Given the description of an element on the screen output the (x, y) to click on. 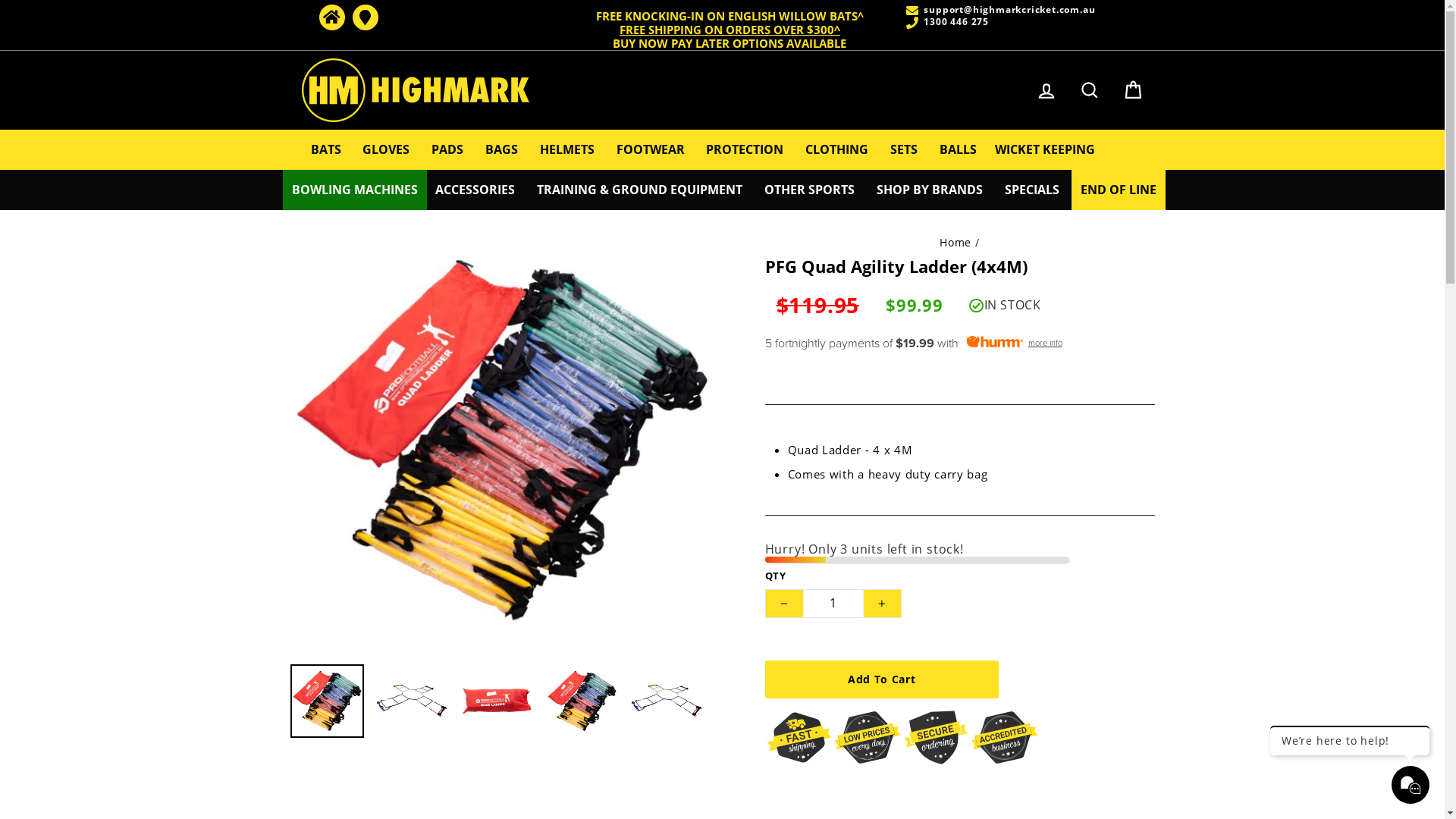
PADS Element type: text (447, 149)
FOOTWEAR Element type: text (650, 149)
Skip to content Element type: text (0, 0)
SEARCH Element type: text (1089, 90)
SHOP BY BRANDS Element type: text (929, 189)
ACCESSORIES Element type: text (475, 189)
Home Element type: hover (331, 17)
Contact Us Element type: hover (364, 17)
OTHER SPORTS Element type: text (809, 189)
CART Element type: text (1132, 90)
BATS Element type: text (325, 149)
BOWLING MACHINES Element type: text (354, 189)
Home Element type: text (955, 242)
TRAINING & GROUND EQUIPMENT Element type: text (639, 189)
CLOTHING Element type: text (836, 149)
END OF LINE Element type: text (1118, 189)
SETS Element type: text (903, 149)
GLOVES Element type: text (385, 149)
Add To Cart Element type: text (880, 679)
5 fortnightly payments of $19.99 with more info Element type: text (959, 343)
SPECIALS Element type: text (1031, 189)
HELMETS Element type: text (566, 149)
PROTECTION Element type: text (744, 149)
LOG IN Element type: text (1046, 90)
FREE SHIPPING ON ORDERS OVER $300^ Element type: text (729, 29)
BALLS Element type: text (957, 149)
WICKET KEEPING Element type: text (1044, 149)
+ Element type: text (881, 602)
BAGS Element type: text (501, 149)
